Given the description of an element on the screen output the (x, y) to click on. 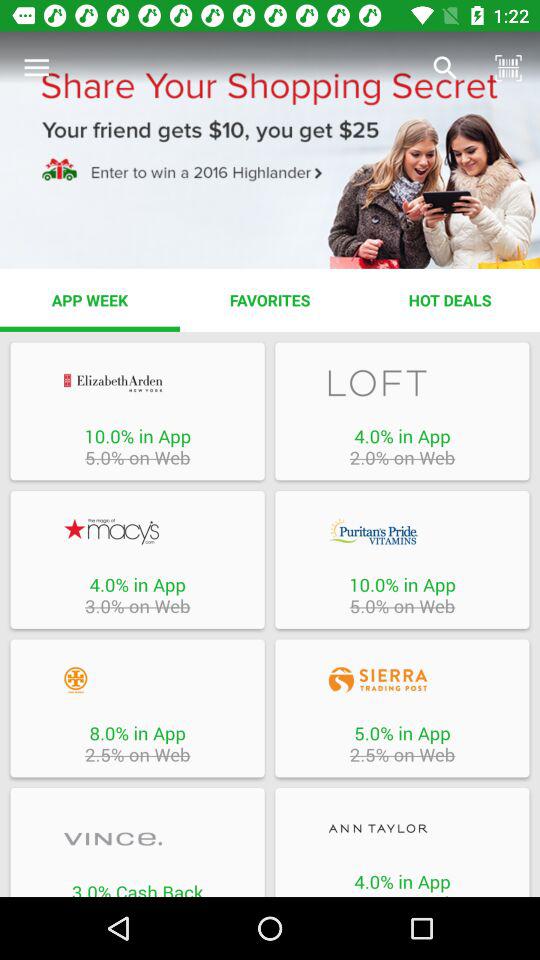
select deal (402, 679)
